Given the description of an element on the screen output the (x, y) to click on. 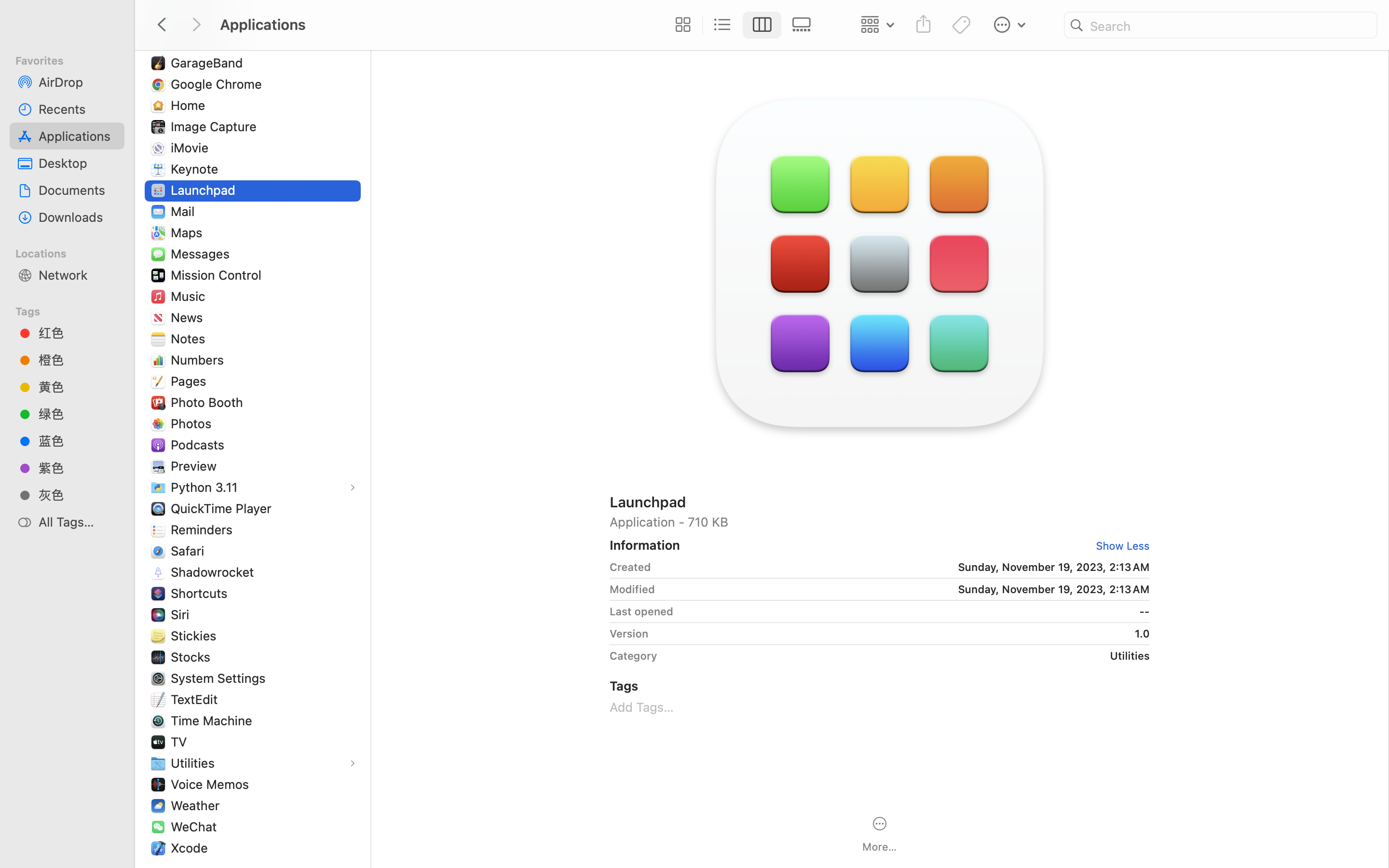
AirDrop Element type: AXStaticText (77, 81)
WeChat Element type: AXTextField (195, 826)
Stocks Element type: AXTextField (192, 656)
Freeform Element type: AXTextField (198, 41)
iMovie Element type: AXTextField (191, 147)
